Given the description of an element on the screen output the (x, y) to click on. 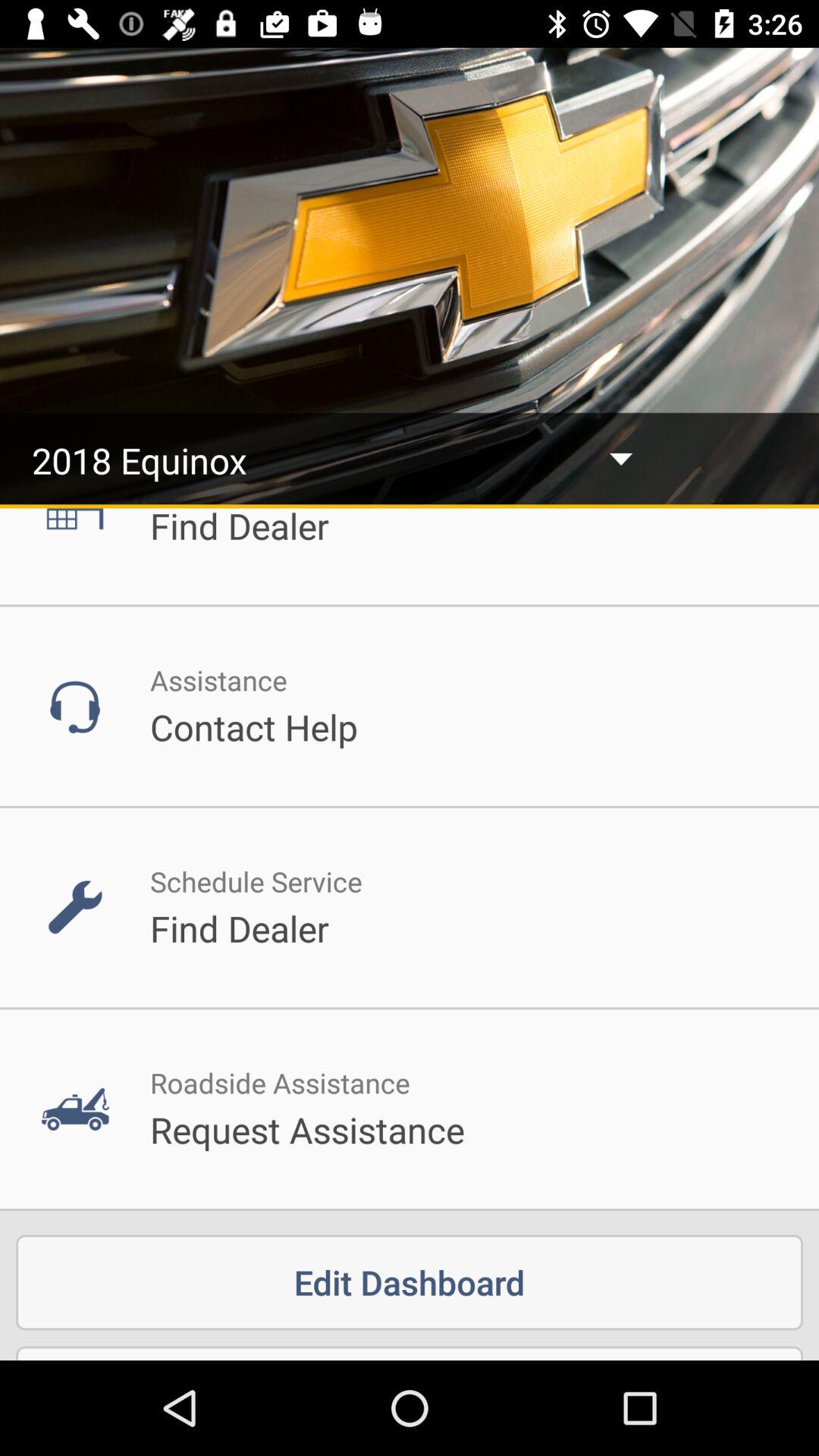
icon left to request assistance (74, 1109)
